Given the description of an element on the screen output the (x, y) to click on. 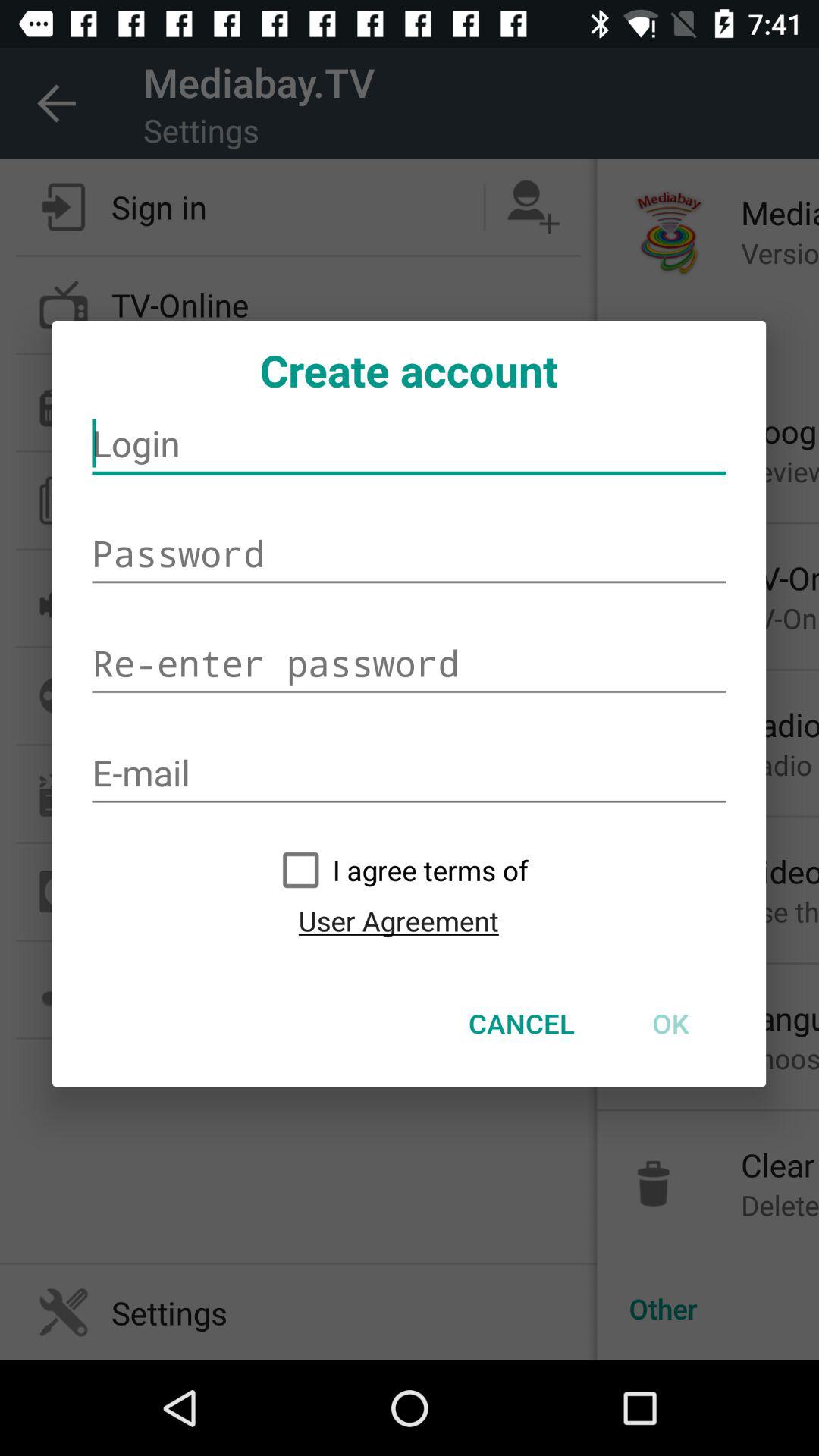
tap the item above the i agree terms icon (409, 773)
